Given the description of an element on the screen output the (x, y) to click on. 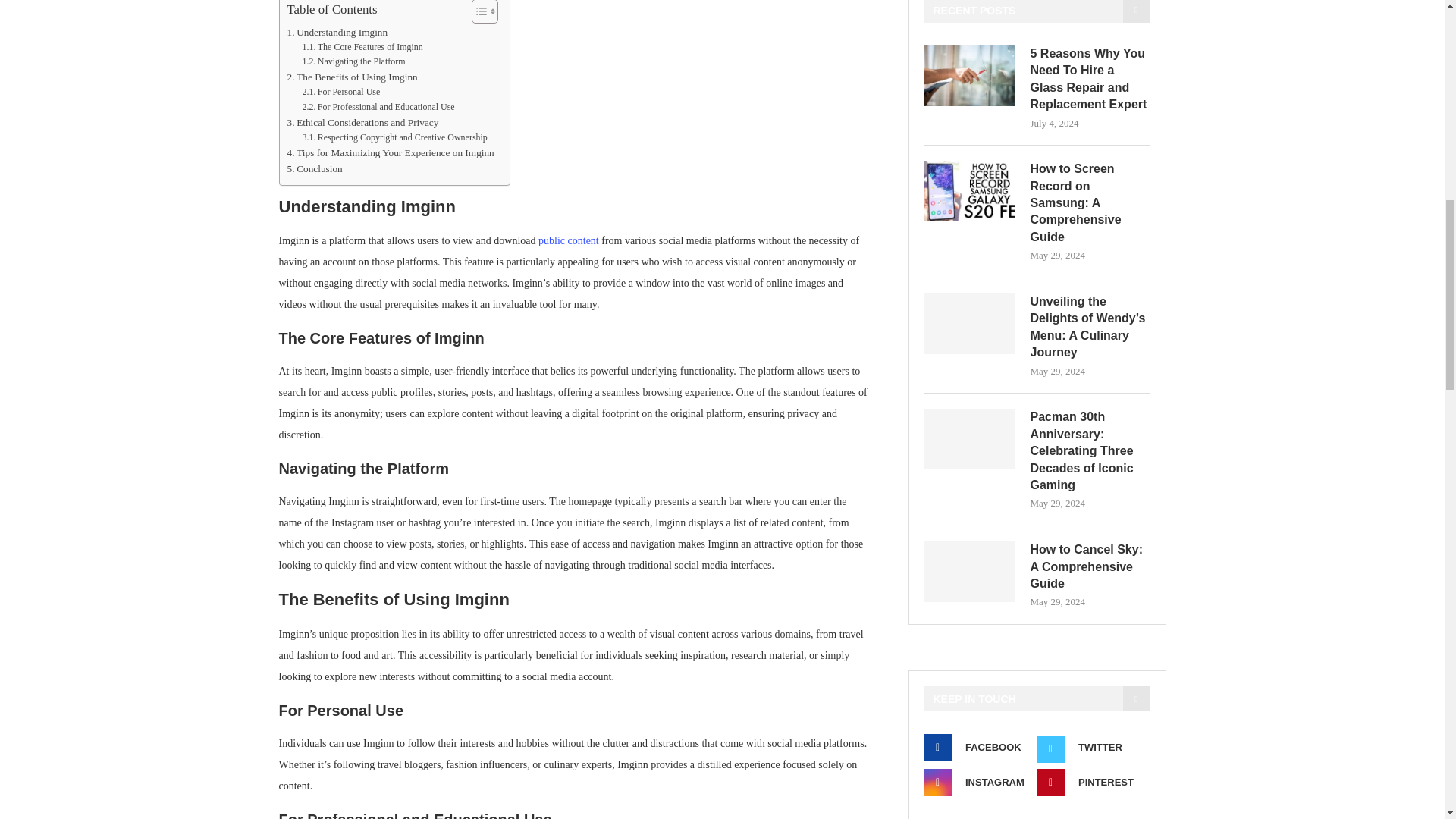
For Professional and Educational Use (377, 106)
Tips for Maximizing Your Experience on Imginn (389, 152)
Understanding Imginn (336, 32)
Respecting Copyright and Creative Ownership (393, 137)
Understanding Imginn (336, 32)
The Core Features of Imginn (361, 47)
The Benefits of Using Imginn (351, 76)
Navigating the Platform (352, 61)
For Personal Use (340, 92)
The Core Features of Imginn (361, 47)
For Professional and Educational Use (377, 106)
Conclusion (314, 168)
The Benefits of Using Imginn (351, 76)
Navigating the Platform (352, 61)
For Personal Use (340, 92)
